Given the description of an element on the screen output the (x, y) to click on. 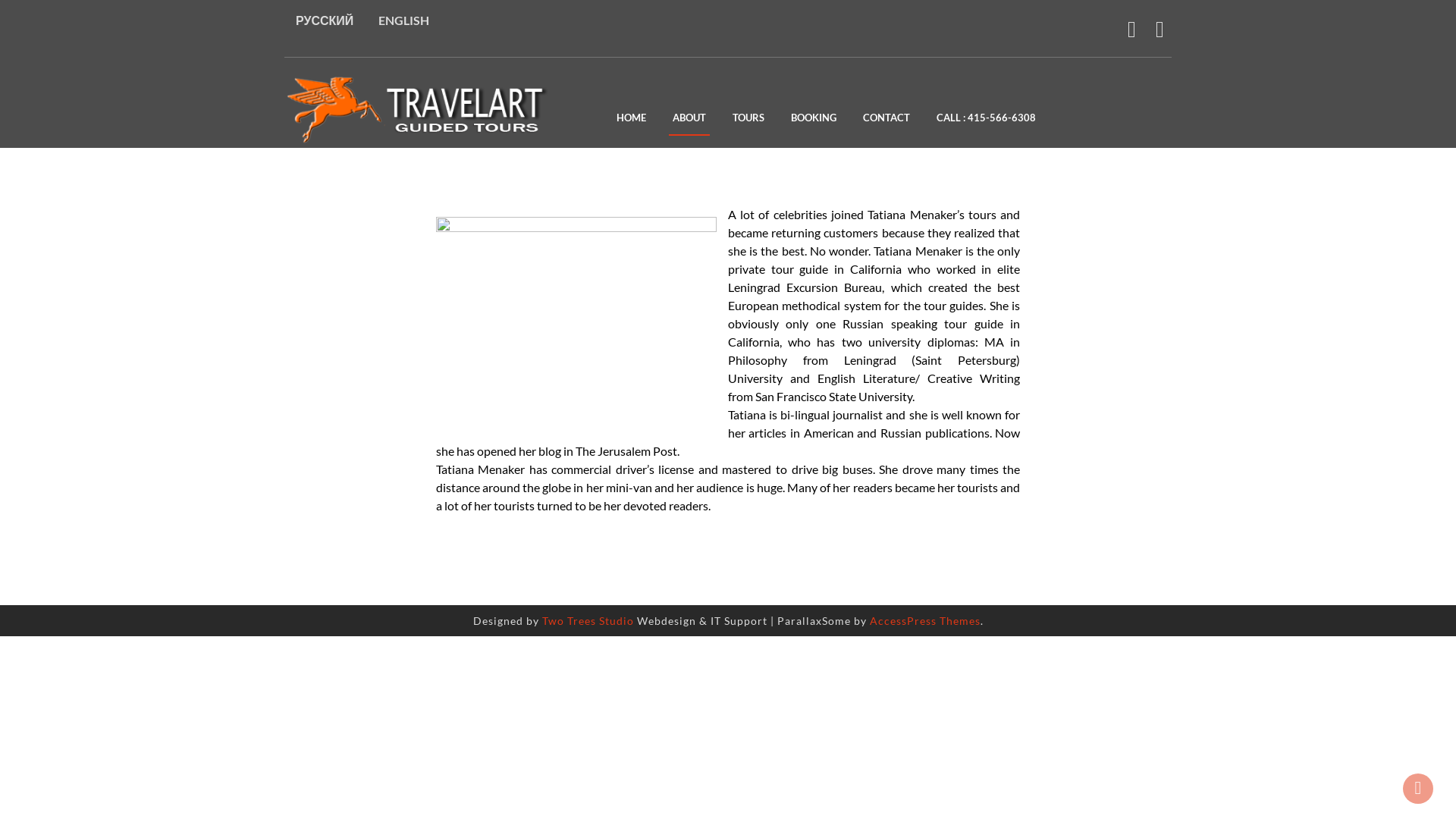
AccessPress Themes Element type: text (924, 620)
CALL : 415-566-6308 Element type: text (985, 119)
ABOUT Element type: text (688, 119)
ENGLISH Element type: text (403, 20)
Two Trees Studio Element type: text (587, 620)
BOOKING Element type: text (813, 119)
HOME Element type: text (630, 119)
TOURS Element type: text (748, 119)
CONTACT Element type: text (886, 119)
